Given the description of an element on the screen output the (x, y) to click on. 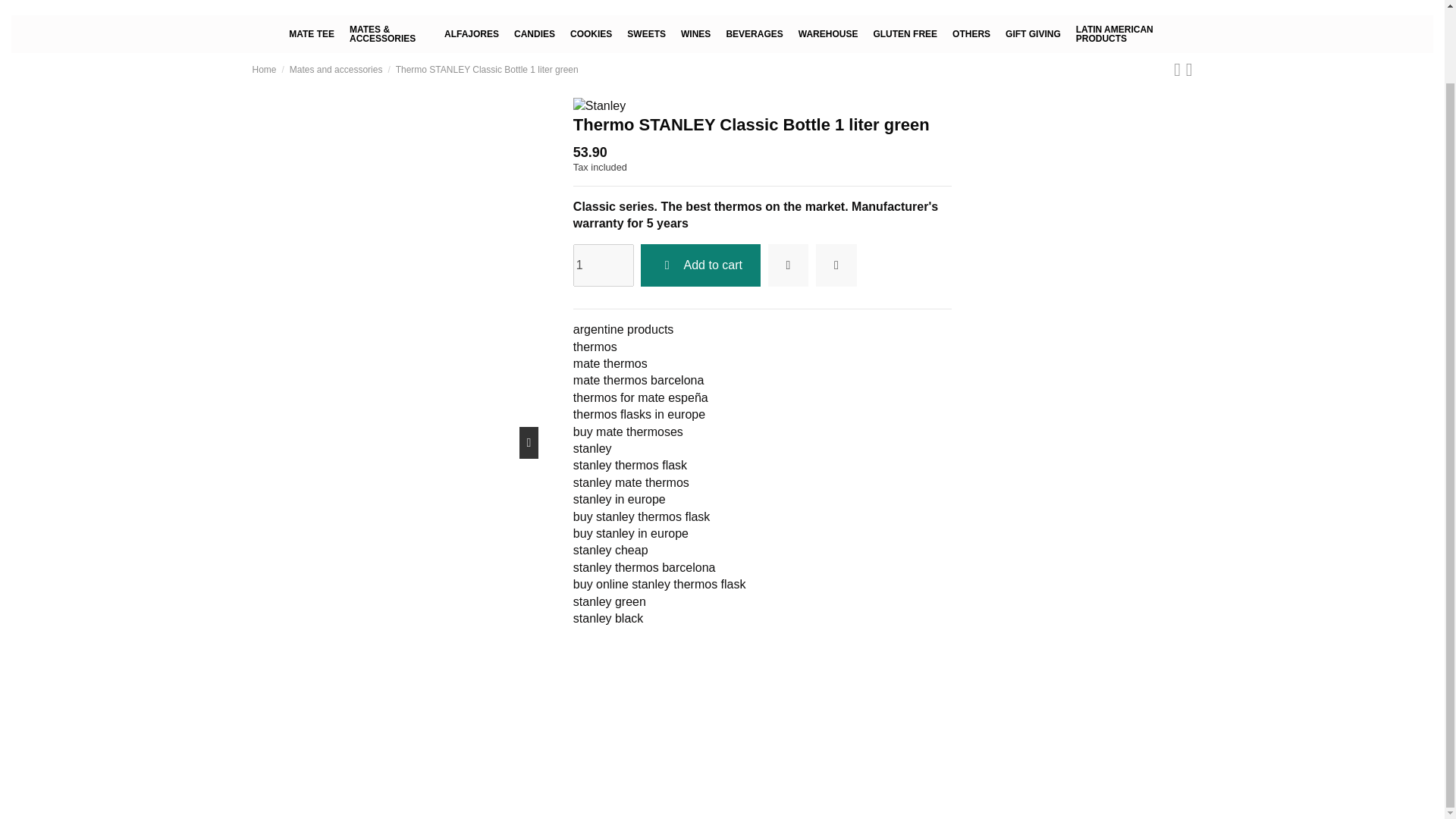
1 (603, 265)
MATE TEE (311, 34)
Add to compare (836, 265)
Add to wishlist (788, 265)
